Given the description of an element on the screen output the (x, y) to click on. 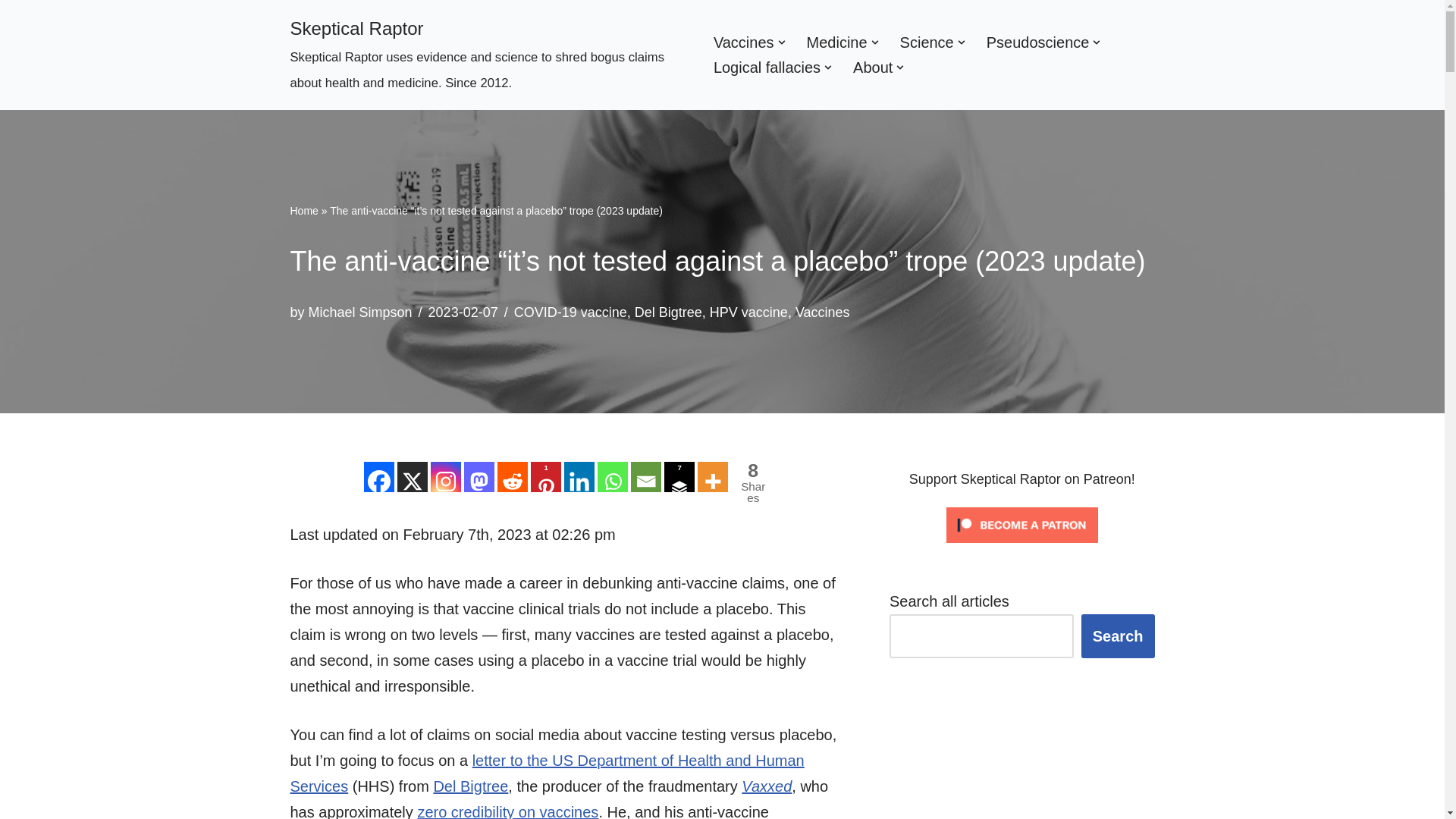
Facebook (379, 476)
Buffer (678, 476)
Linkedin (579, 476)
Reddit (512, 476)
Vaccines (743, 41)
Medicine (836, 41)
Email (645, 476)
Pinterest (545, 476)
X (412, 476)
Whatsapp (611, 476)
Instagram (445, 476)
Posts by Michael Simpson (360, 312)
Mastodon (479, 476)
Skip to content (11, 31)
